Given the description of an element on the screen output the (x, y) to click on. 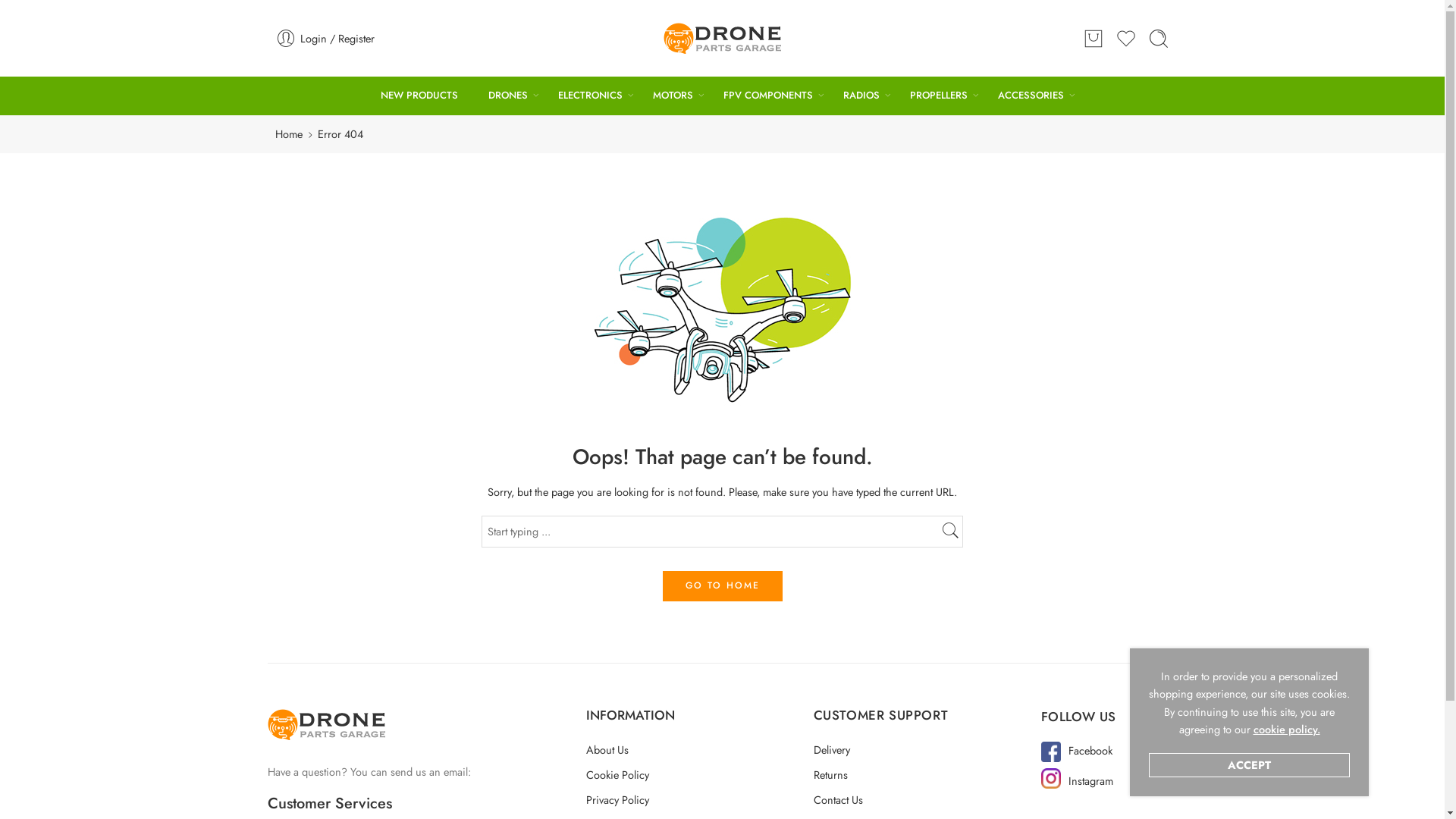
Login / Register Element type: text (423, 37)
PROPELLERS Element type: text (938, 95)
DRONES Element type: text (507, 95)
RADIOS Element type: text (861, 95)
Delivery Element type: text (926, 749)
NEW PRODUCTS Element type: text (419, 95)
cookie policy. Element type: text (1285, 728)
ACCESSORIES Element type: text (1030, 95)
Drone Parts Garage - Drone Parts Garage Element type: hover (722, 37)
ELECTRONICS Element type: text (590, 95)
ACCEPT Element type: text (1248, 765)
About Us Element type: text (698, 749)
Cookie Policy Element type: text (698, 774)
Wishlist Element type: hover (1125, 37)
Instagram Element type: text (1090, 780)
Search Element type: hover (1158, 37)
facebook Element type: hover (1050, 751)
Returns Element type: text (926, 774)
MOTORS Element type: text (672, 95)
instagram Element type: hover (1050, 778)
Contact Us Element type: text (926, 799)
Cart Element type: hover (1093, 37)
FPV COMPONENTS Element type: text (767, 95)
Privacy Policy Element type: text (698, 799)
Facebook Element type: text (1090, 750)
GO TO HOME Element type: text (721, 586)
Home Element type: text (287, 133)
